Given the description of an element on the screen output the (x, y) to click on. 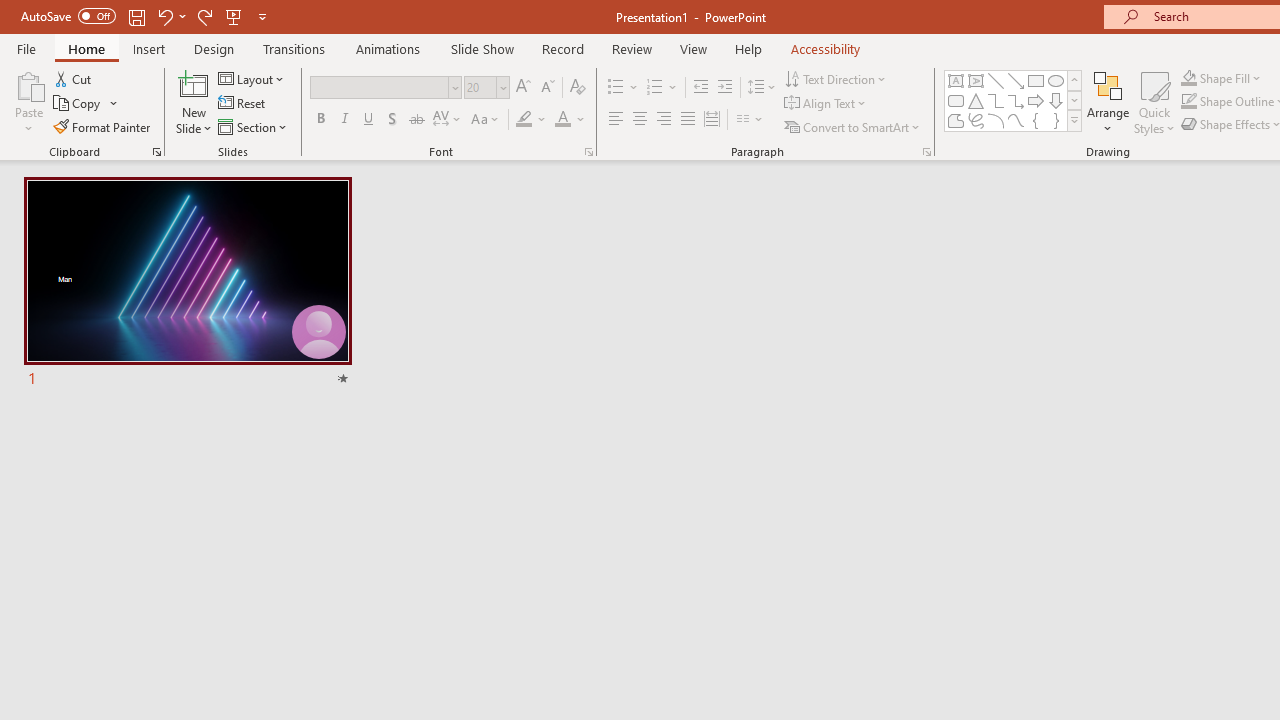
Oval (1055, 80)
Layout (252, 78)
Justify (687, 119)
Columns (750, 119)
Shape Outline Blue, Accent 1 (1188, 101)
Arrange (1108, 102)
Increase Indent (725, 87)
Quick Styles (1154, 102)
Paragraph... (926, 151)
